Given the description of an element on the screen output the (x, y) to click on. 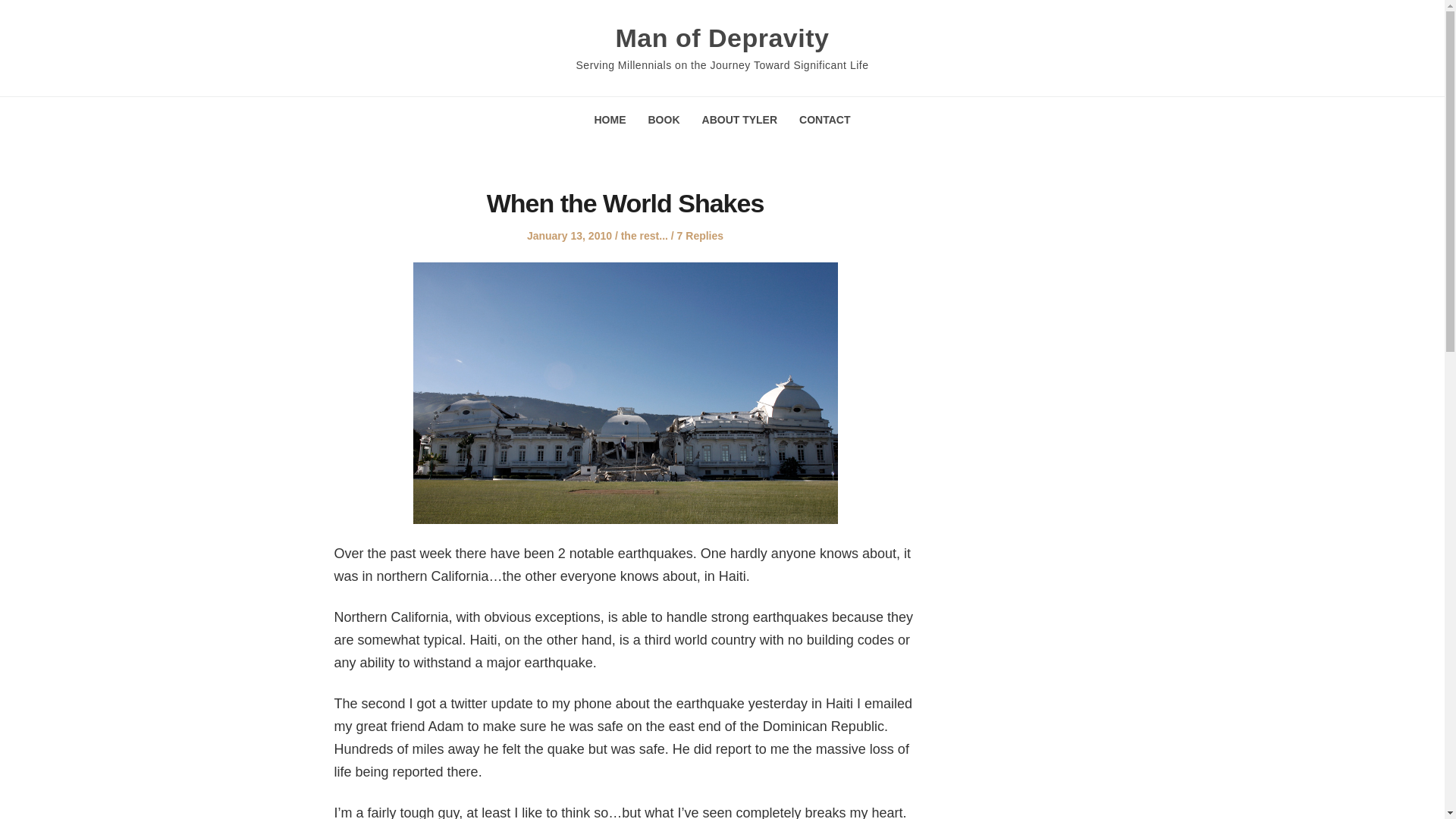
BOOK (663, 119)
CONTACT (824, 119)
7 Replies (700, 235)
ABOUT TYLER (739, 119)
Man of Depravity (722, 38)
HOME (610, 119)
January 13, 2010 (569, 235)
haiti national capital earthquake (624, 393)
the rest... (644, 235)
